Given the description of an element on the screen output the (x, y) to click on. 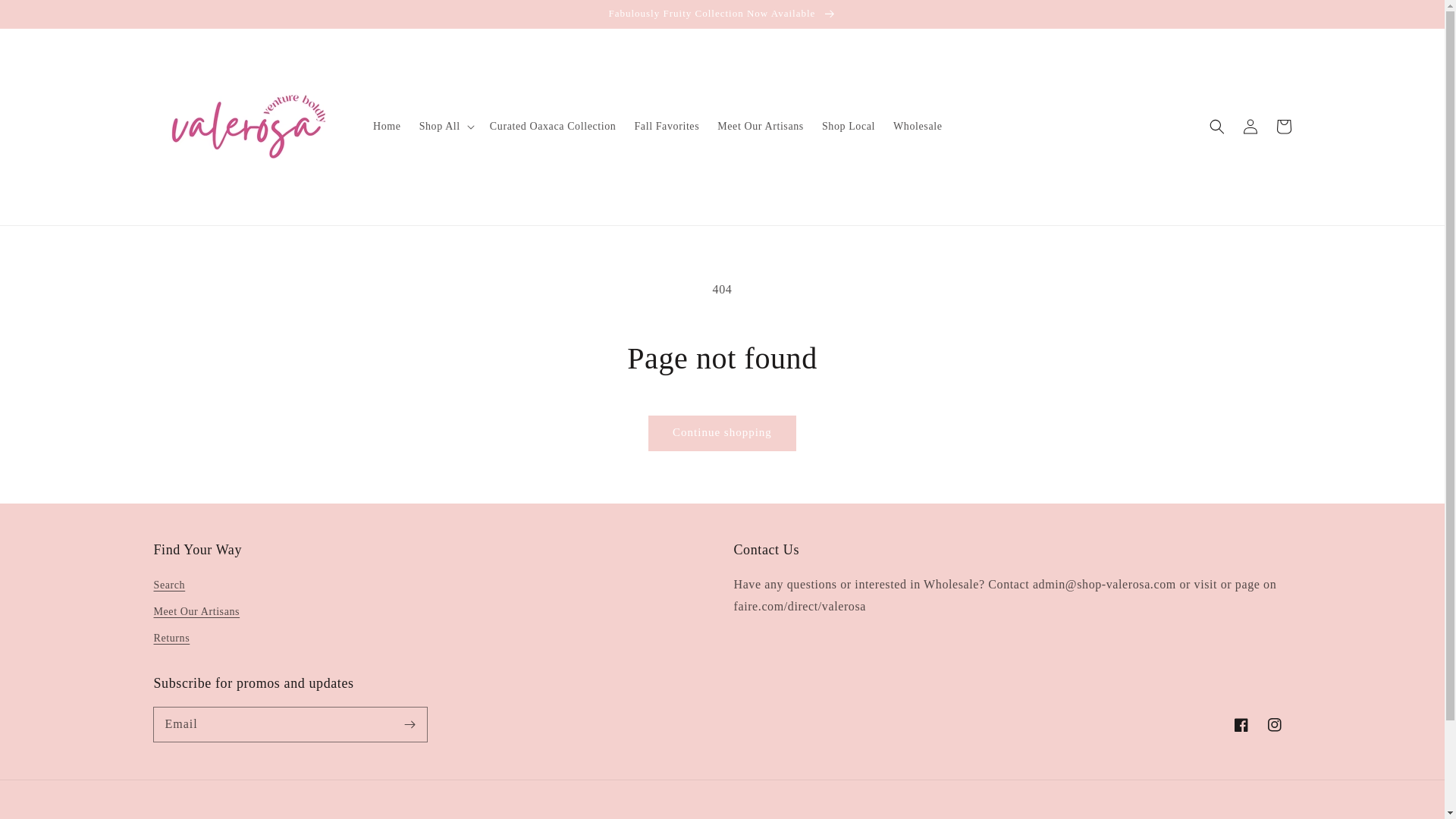
Curated Oaxaca Collection (553, 126)
Shop Local (847, 126)
Wholesale (916, 126)
Skip to content (45, 16)
Home (387, 126)
Fall Favorites (665, 126)
Meet Our Artisans (759, 126)
